Given the description of an element on the screen output the (x, y) to click on. 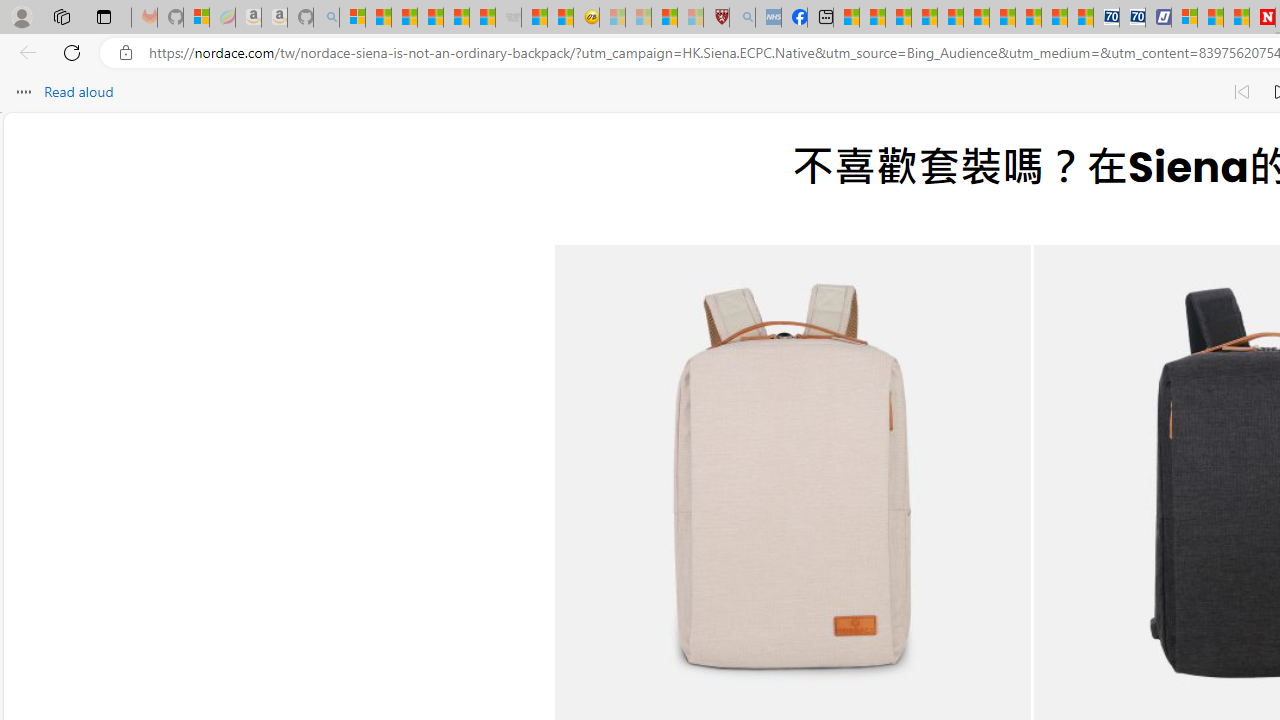
Previous (605, 501)
Read previous paragraph (1241, 92)
